Given the description of an element on the screen output the (x, y) to click on. 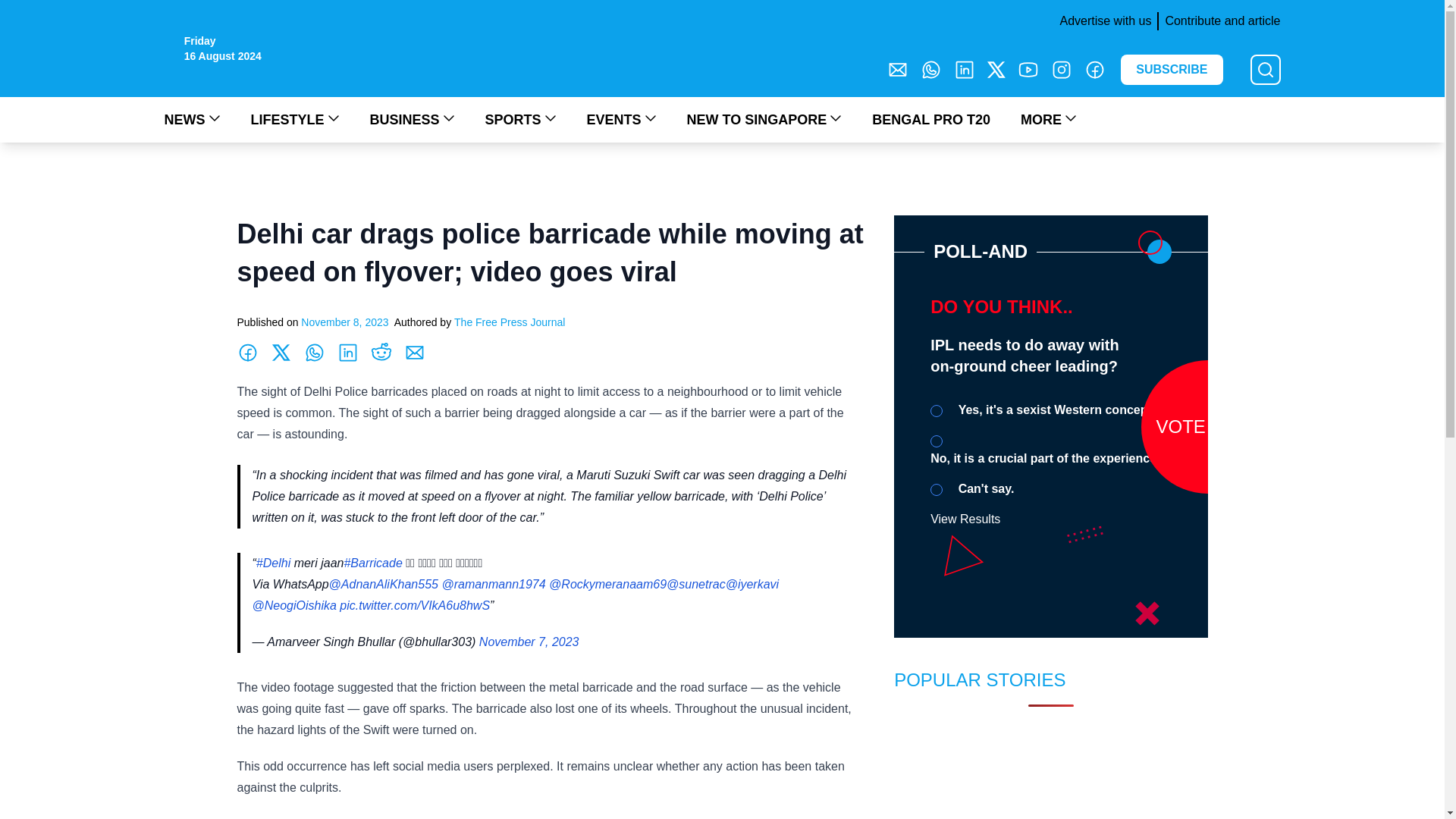
39 (936, 410)
Search (19, 9)
SUBSCRIBE (1172, 69)
Youtube (1028, 69)
Advertise with us (1101, 21)
Facebook (1094, 69)
LinkedIn (964, 69)
LIFESTYLE (294, 119)
Tweeter (996, 69)
NEW TO SINGAPORE (765, 119)
